Given the description of an element on the screen output the (x, y) to click on. 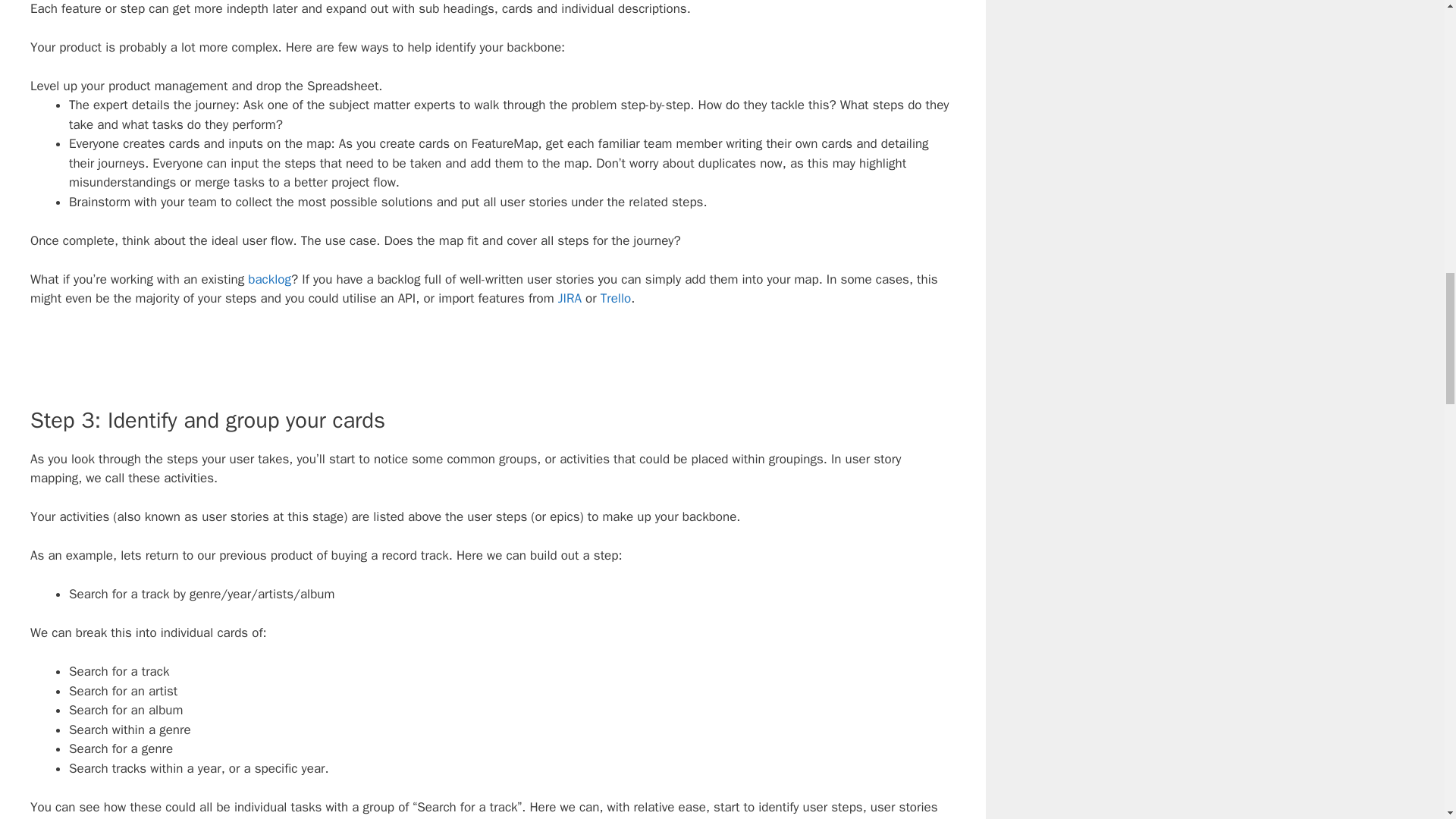
JIRA (571, 298)
Trello (614, 298)
backlog (269, 279)
